Given the description of an element on the screen output the (x, y) to click on. 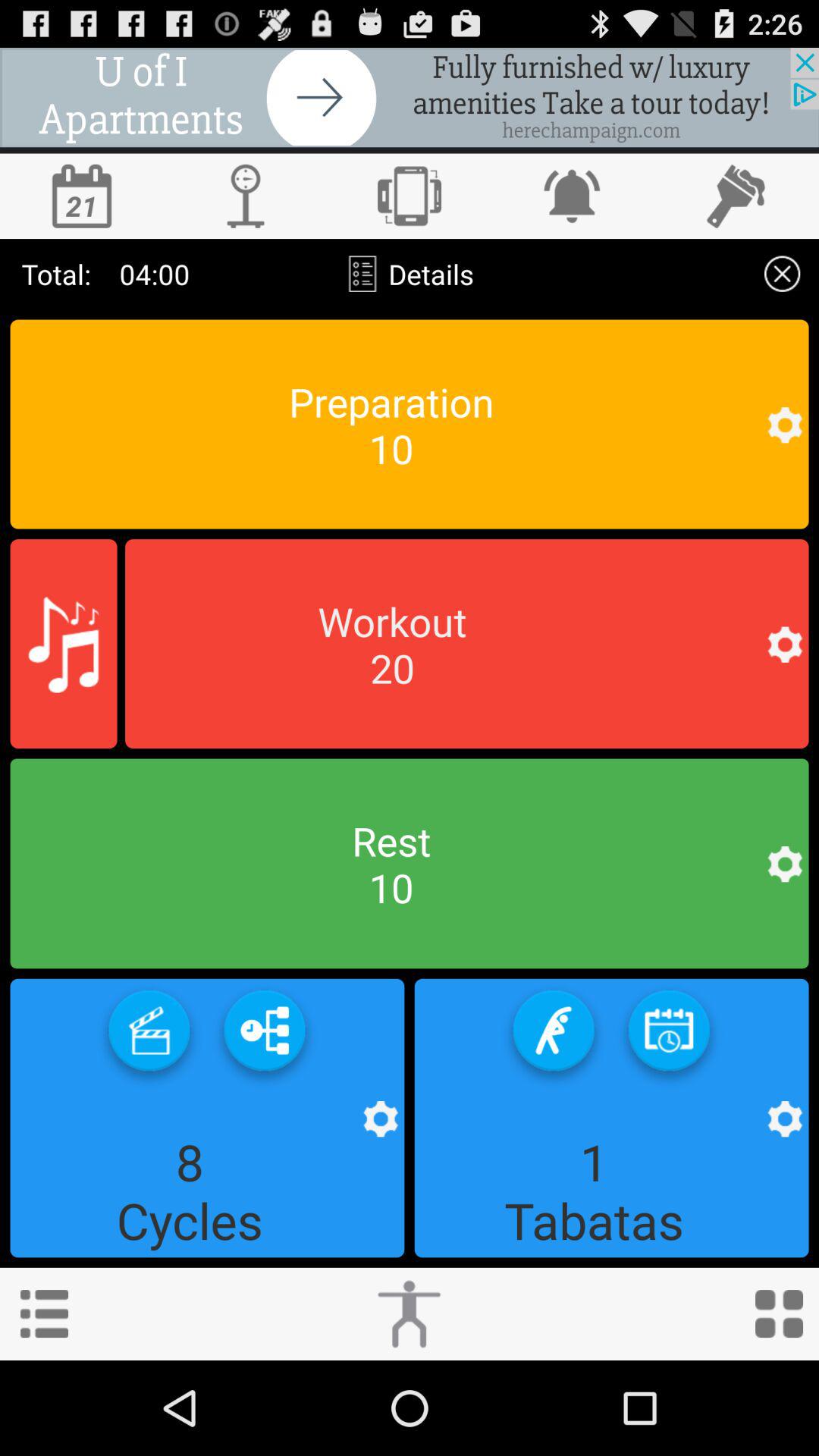
music icon (63, 643)
